Given the description of an element on the screen output the (x, y) to click on. 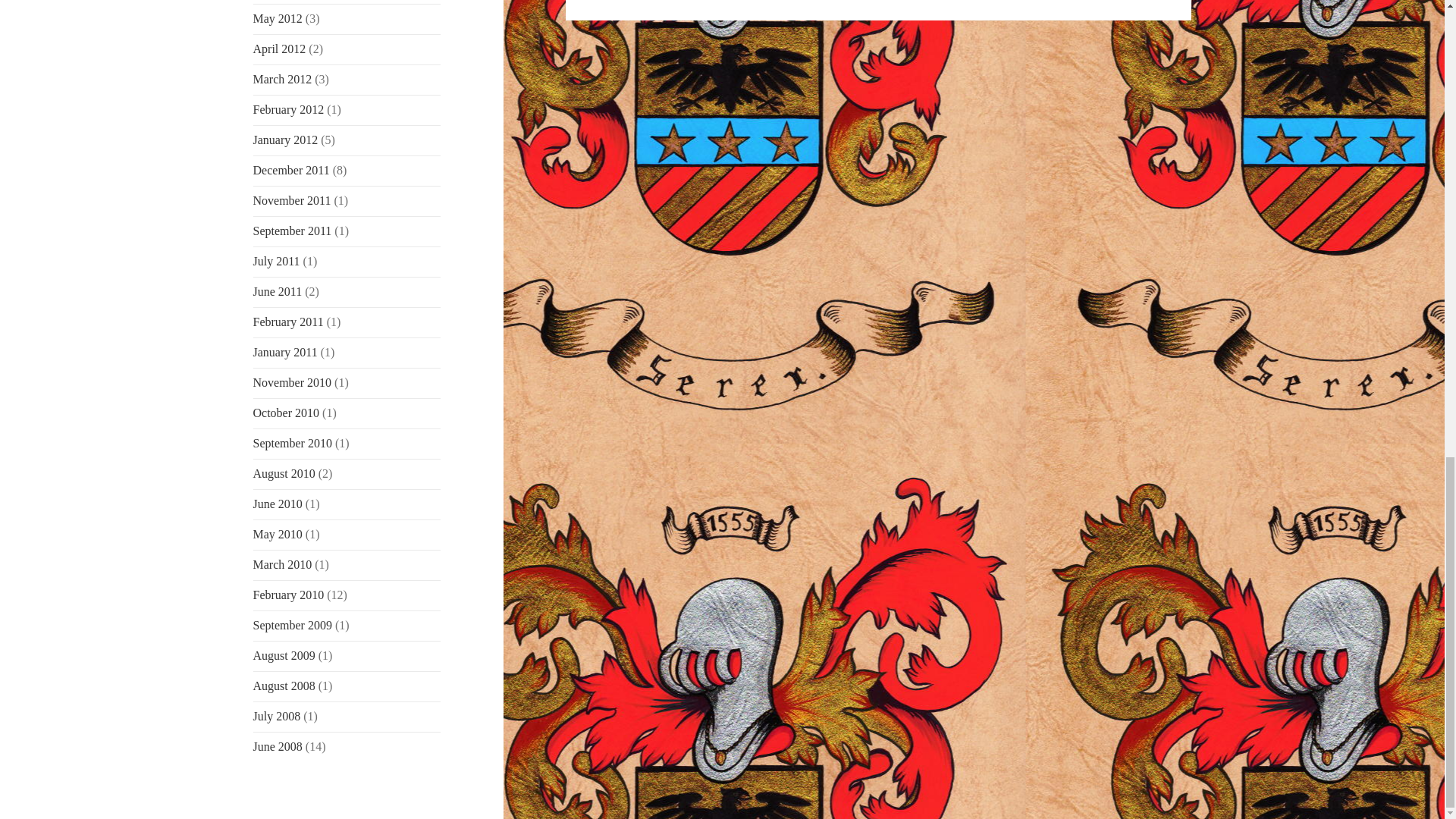
July 2011 (276, 260)
December 2011 (291, 169)
June 2011 (277, 291)
August 2010 (284, 472)
September 2010 (292, 442)
January 2011 (285, 351)
May 2012 (277, 18)
April 2012 (279, 48)
February 2012 (288, 109)
March 2012 (283, 78)
November 2010 (292, 382)
June 2010 (277, 503)
September 2011 (292, 230)
February 2011 (288, 321)
January 2012 (285, 139)
